Given the description of an element on the screen output the (x, y) to click on. 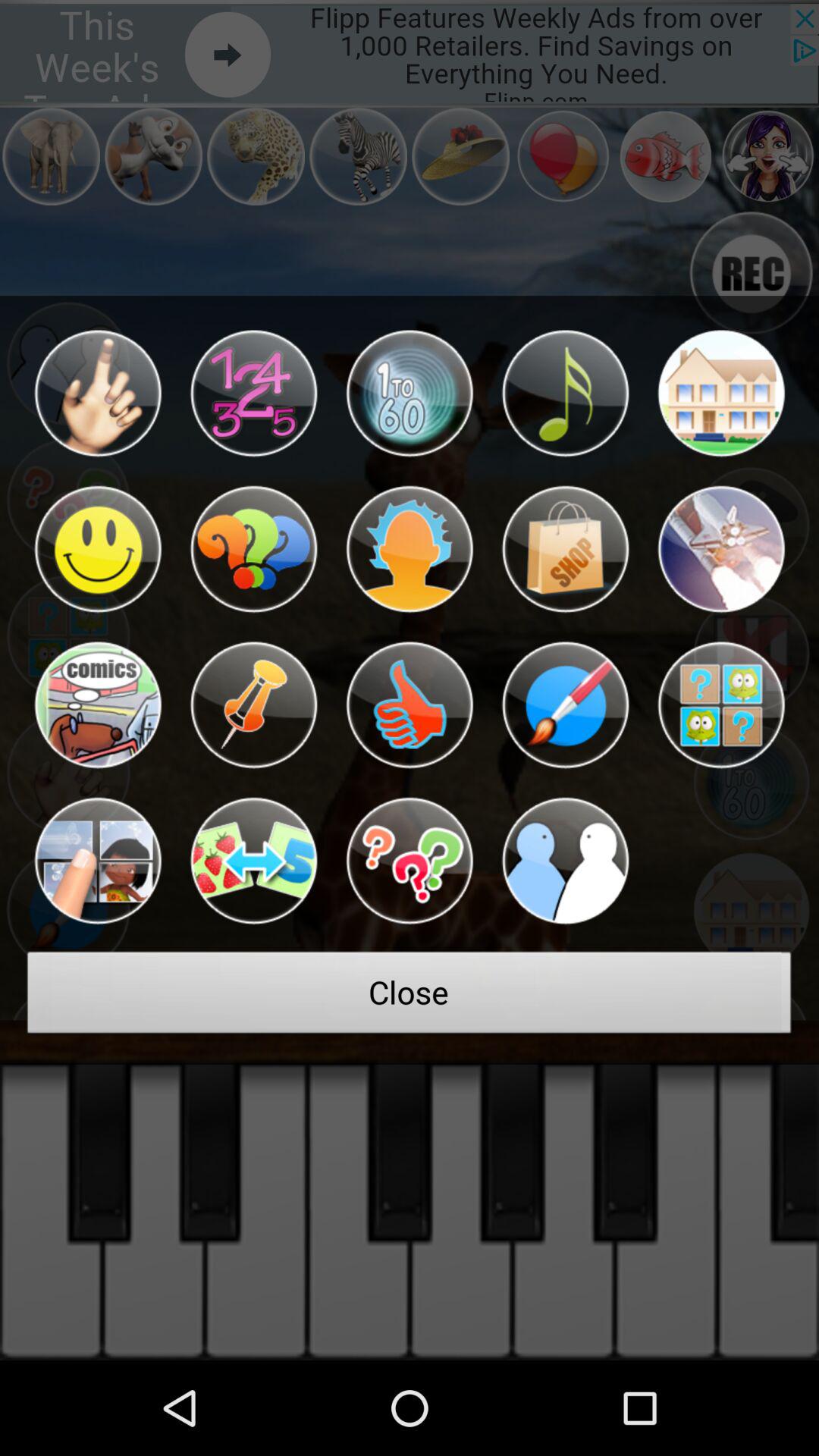
shop (565, 549)
